Given the description of an element on the screen output the (x, y) to click on. 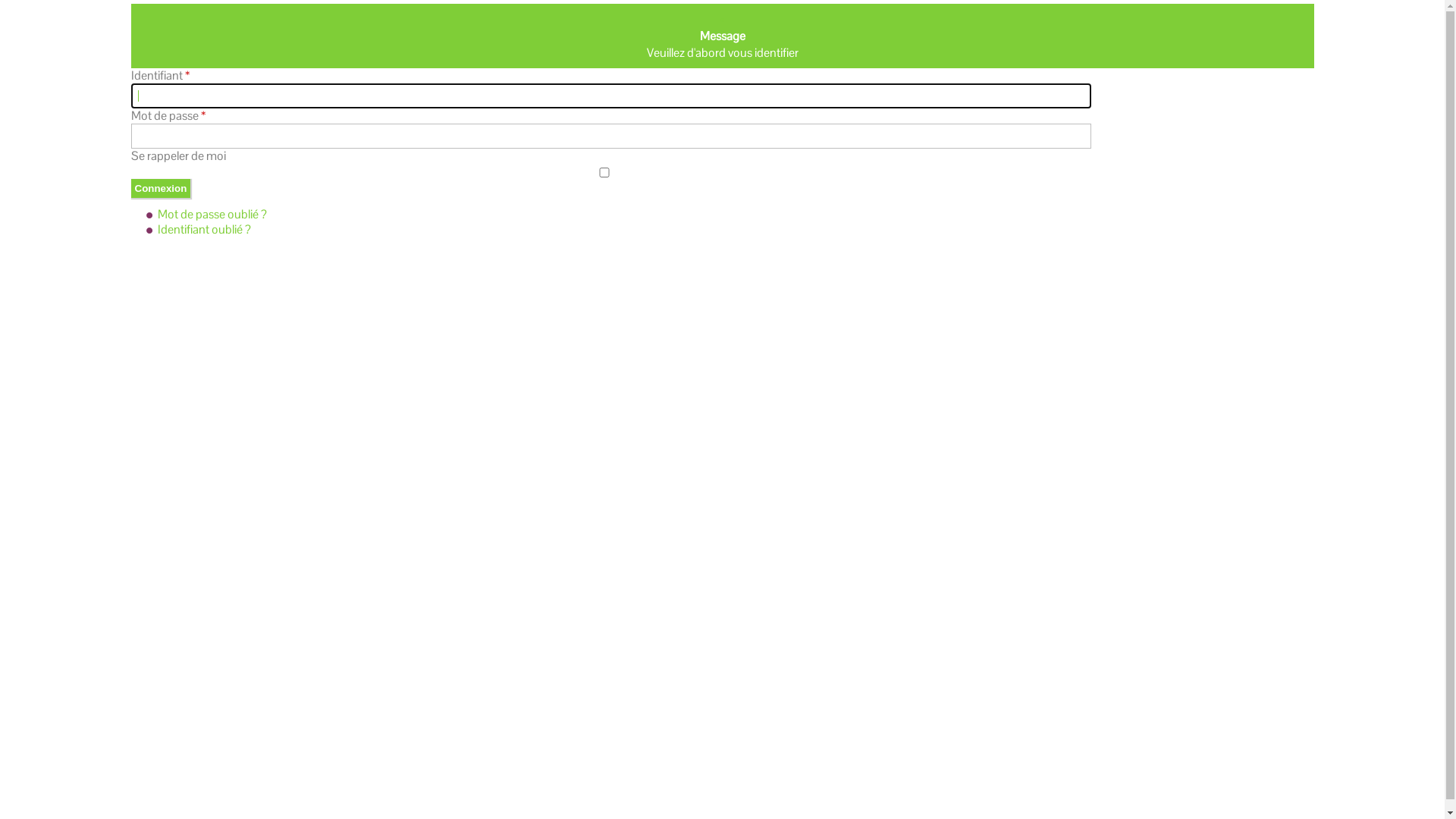
Connexion Element type: text (160, 187)
